Given the description of an element on the screen output the (x, y) to click on. 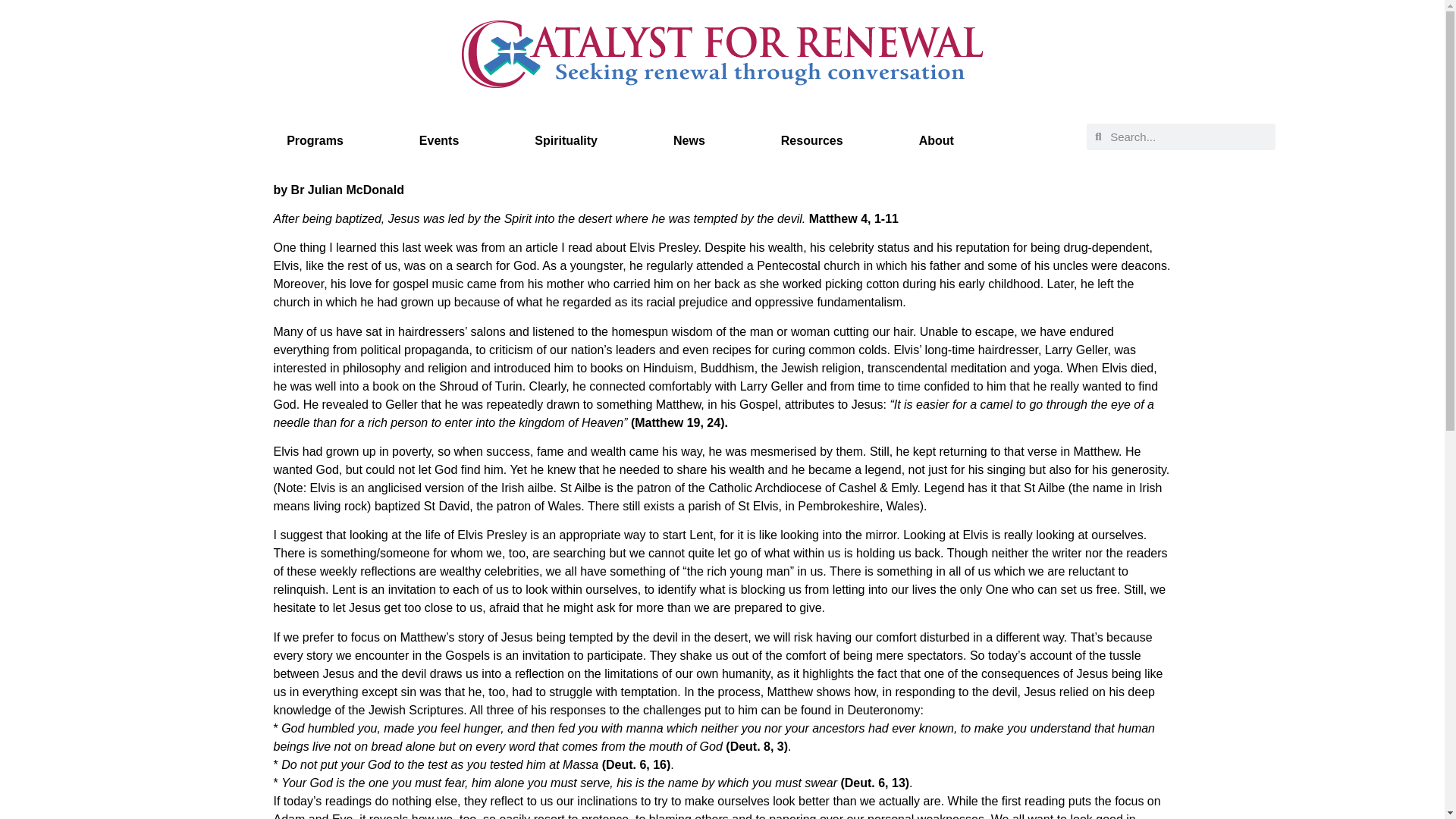
News (688, 140)
About (935, 140)
Events (438, 140)
Resources (811, 140)
Programs (314, 140)
Spirituality (565, 140)
